Given the description of an element on the screen output the (x, y) to click on. 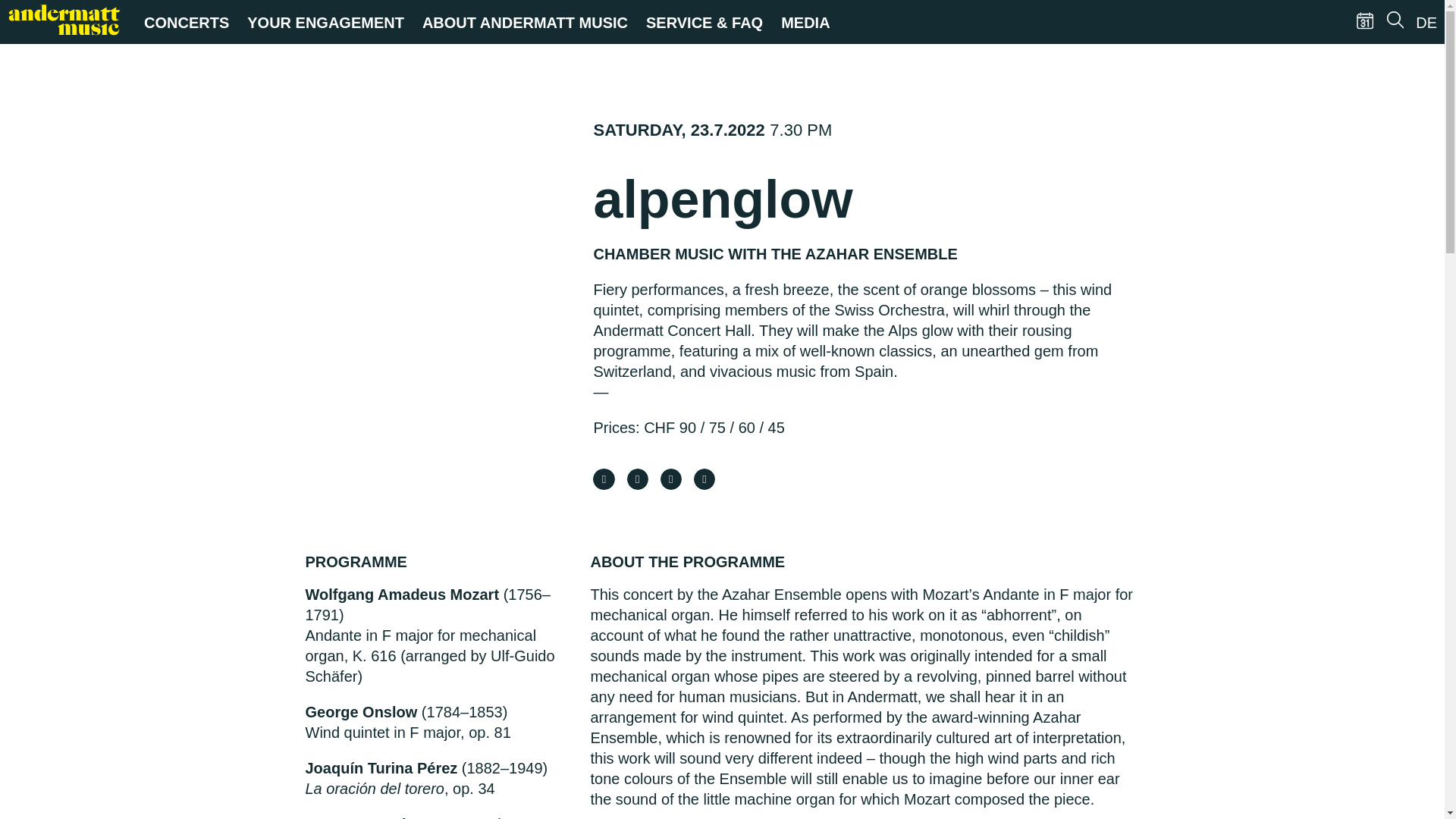
ABOUT ANDERMATT MUSIC (524, 22)
CONCERTS (186, 22)
MEDIA (804, 22)
YOUR ENGAGEMENT (325, 22)
